Given the description of an element on the screen output the (x, y) to click on. 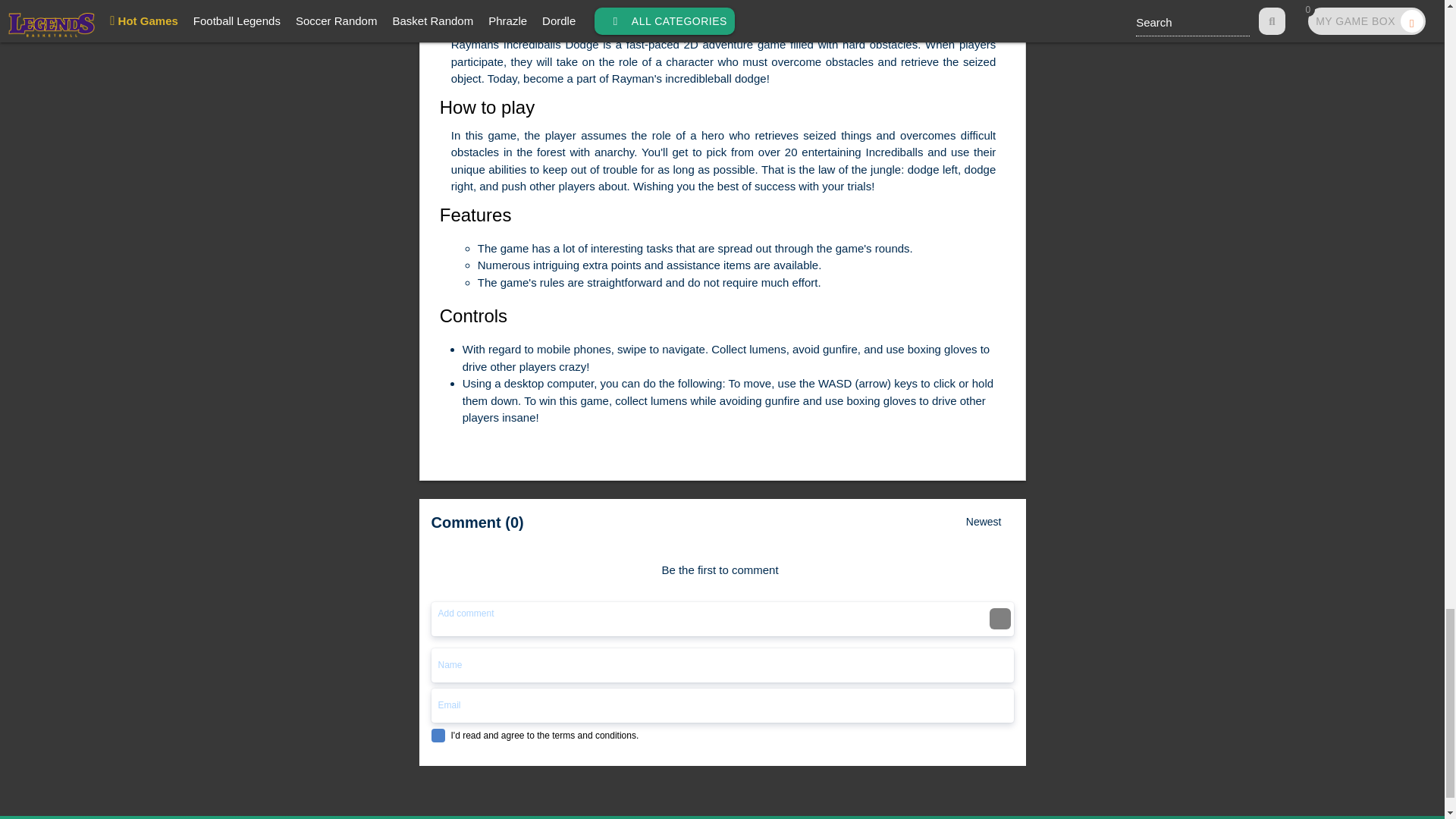
Be the first to comment (725, 562)
